Given the description of an element on the screen output the (x, y) to click on. 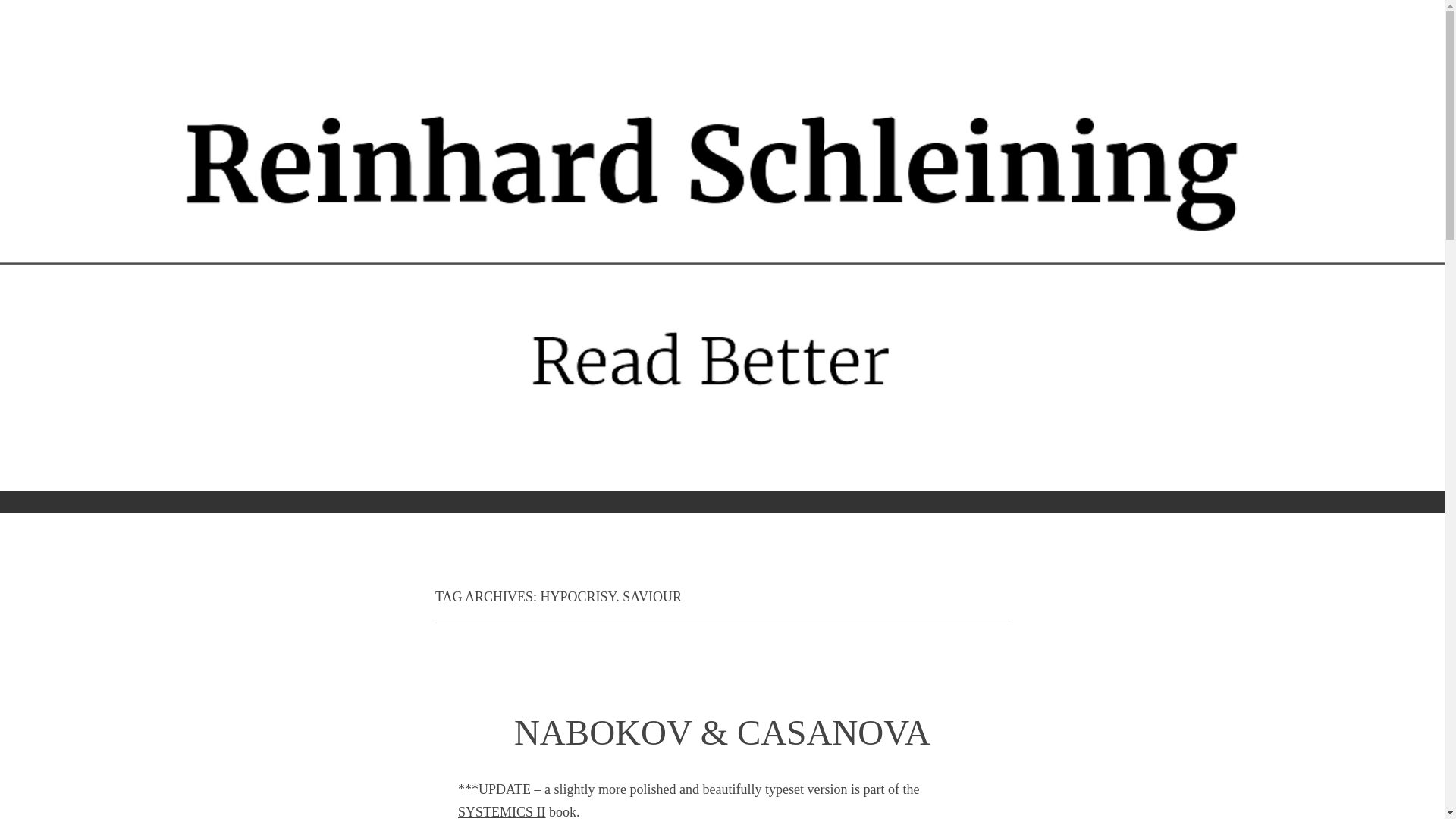
REINHARD SCHLEINING (438, 518)
REINHARD SCHLEINING (438, 518)
SYSTEMICS II (502, 811)
